Given the description of an element on the screen output the (x, y) to click on. 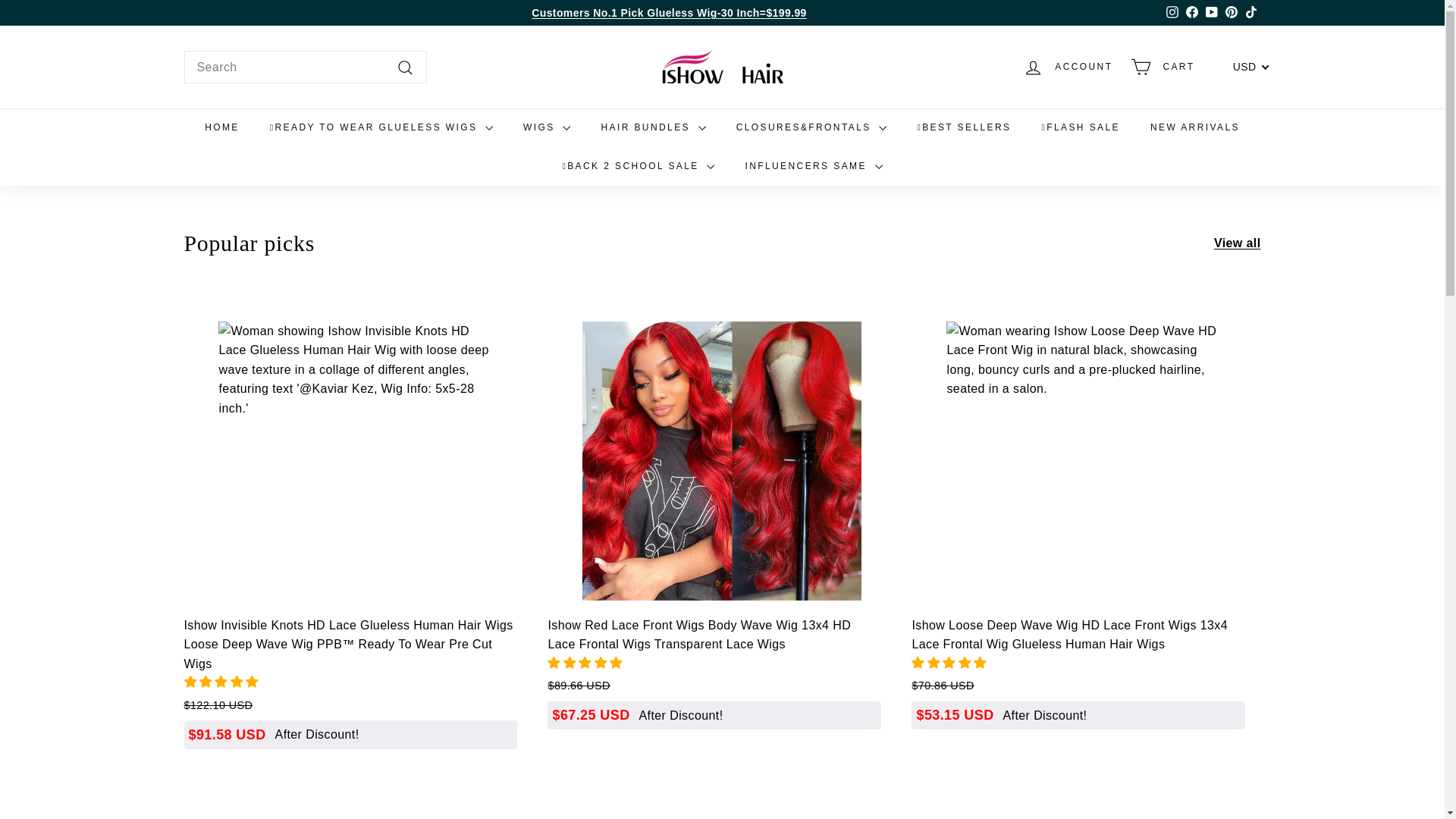
instagram (1171, 11)
ACCOUNT (1067, 67)
CART (1162, 67)
HOME (221, 127)
